Given the description of an element on the screen output the (x, y) to click on. 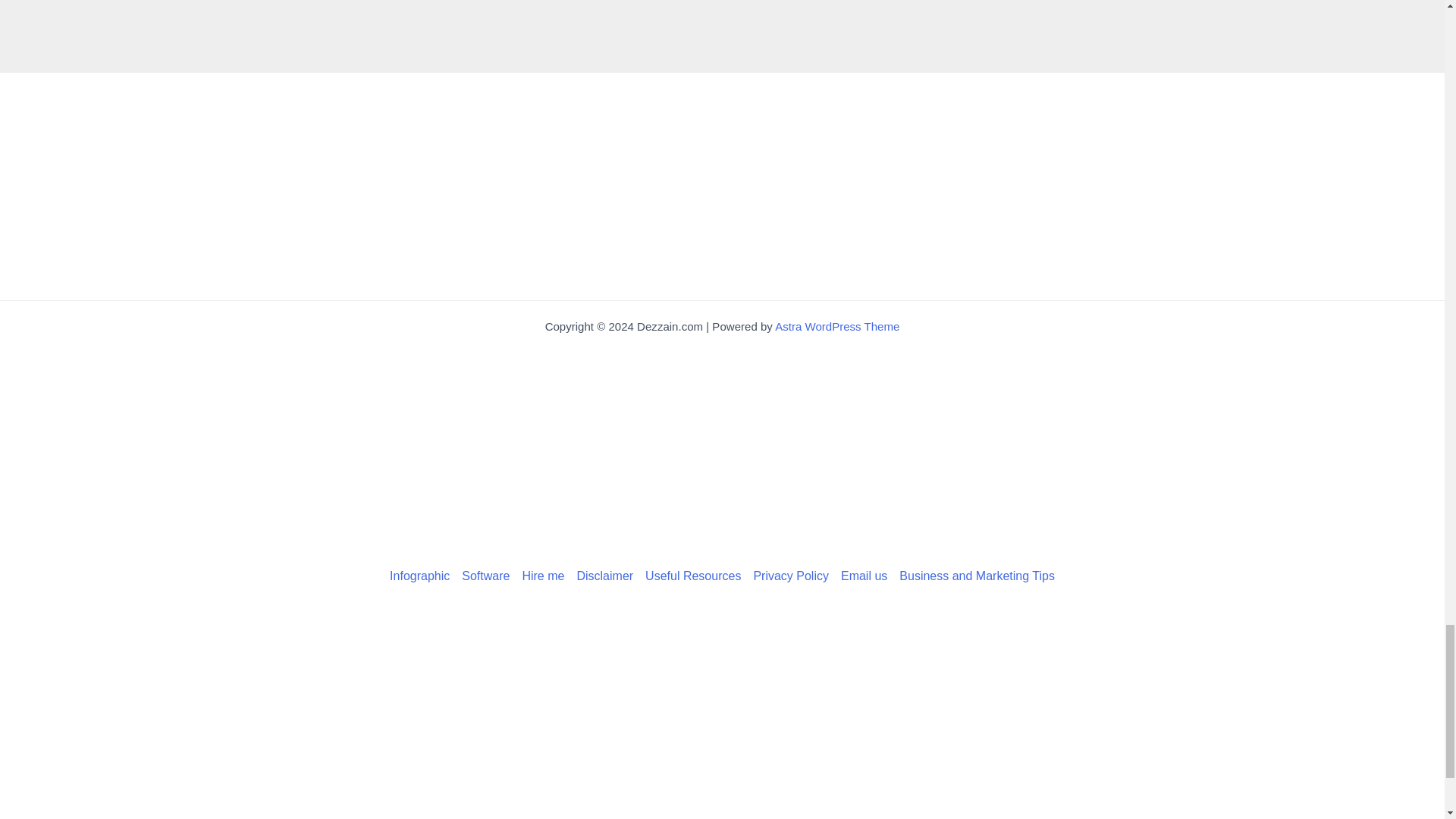
Hire Richie for Custom Work (542, 576)
